Given the description of an element on the screen output the (x, y) to click on. 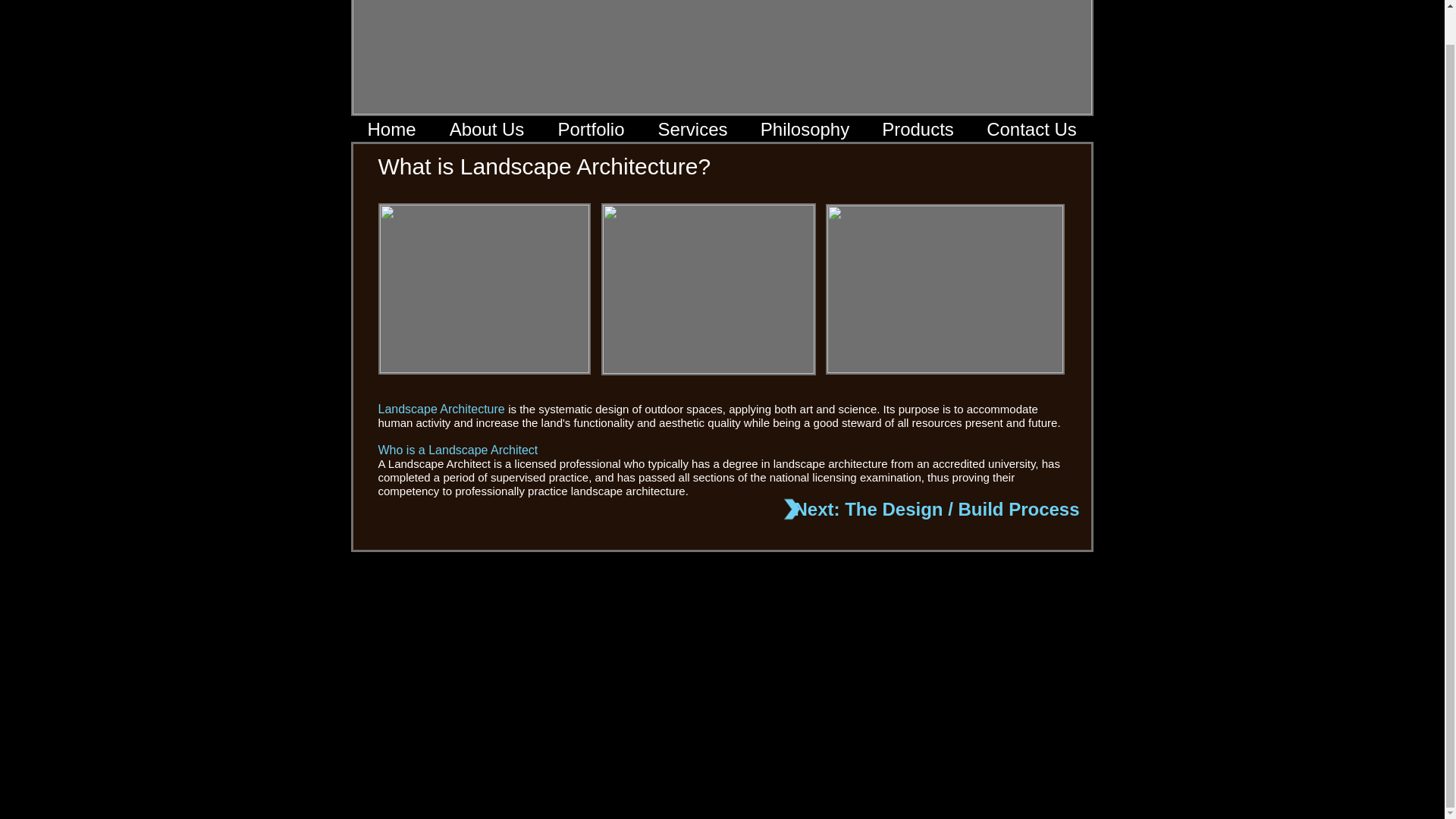
Products (918, 129)
Home (391, 129)
Philosophy (805, 129)
Contact Us (1032, 129)
new logo copy2.jpg (721, 58)
Services (693, 129)
About Us (486, 129)
Portfolio (591, 129)
